Given the description of an element on the screen output the (x, y) to click on. 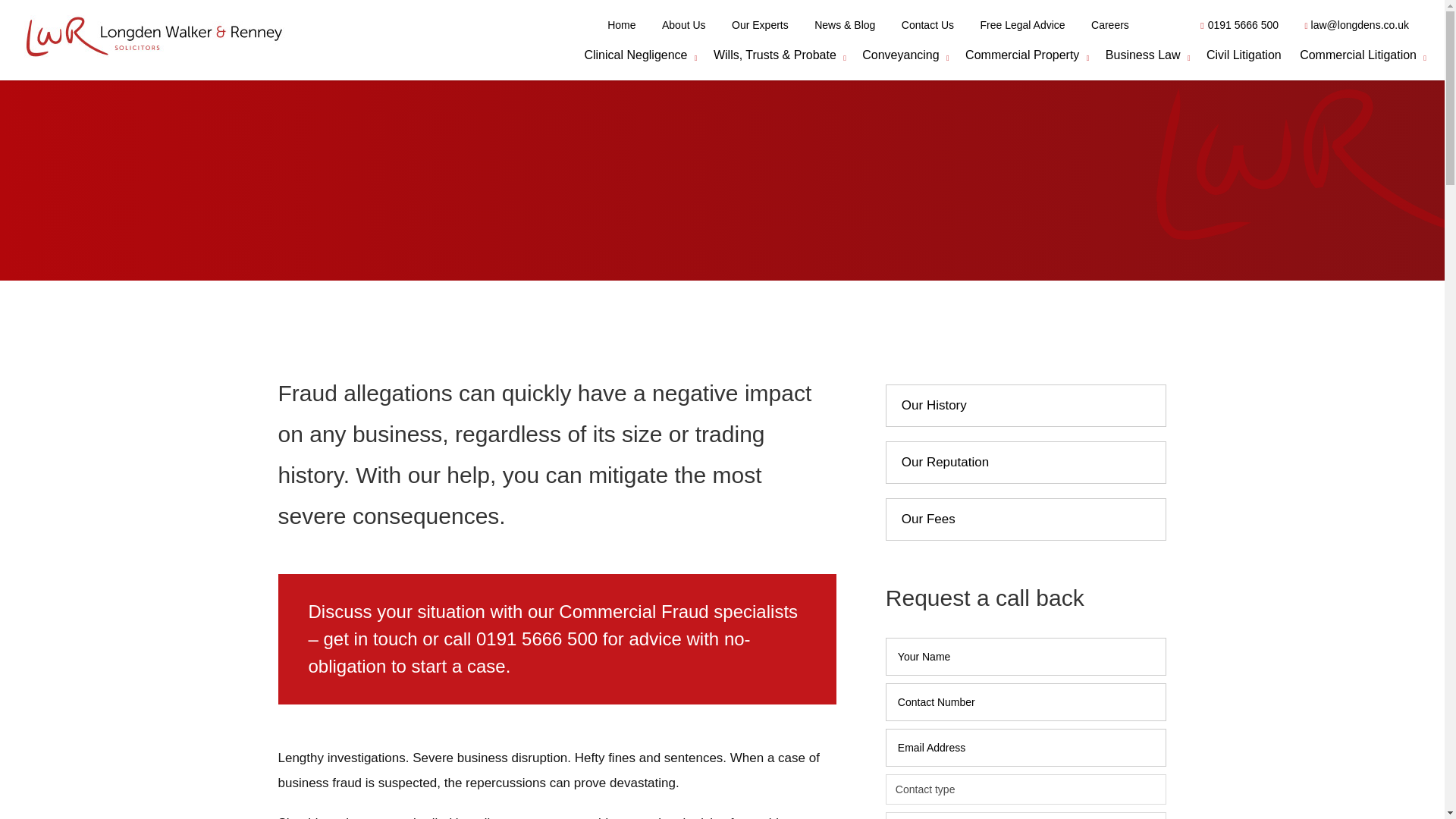
Home (621, 24)
Conveyancing (900, 62)
Free Legal Advice (1022, 24)
Clinical Negligence (634, 62)
Our Experts (760, 24)
0191 5666 500 (1239, 24)
Contact Us (928, 24)
About Us (684, 24)
Careers (1109, 24)
